Given the description of an element on the screen output the (x, y) to click on. 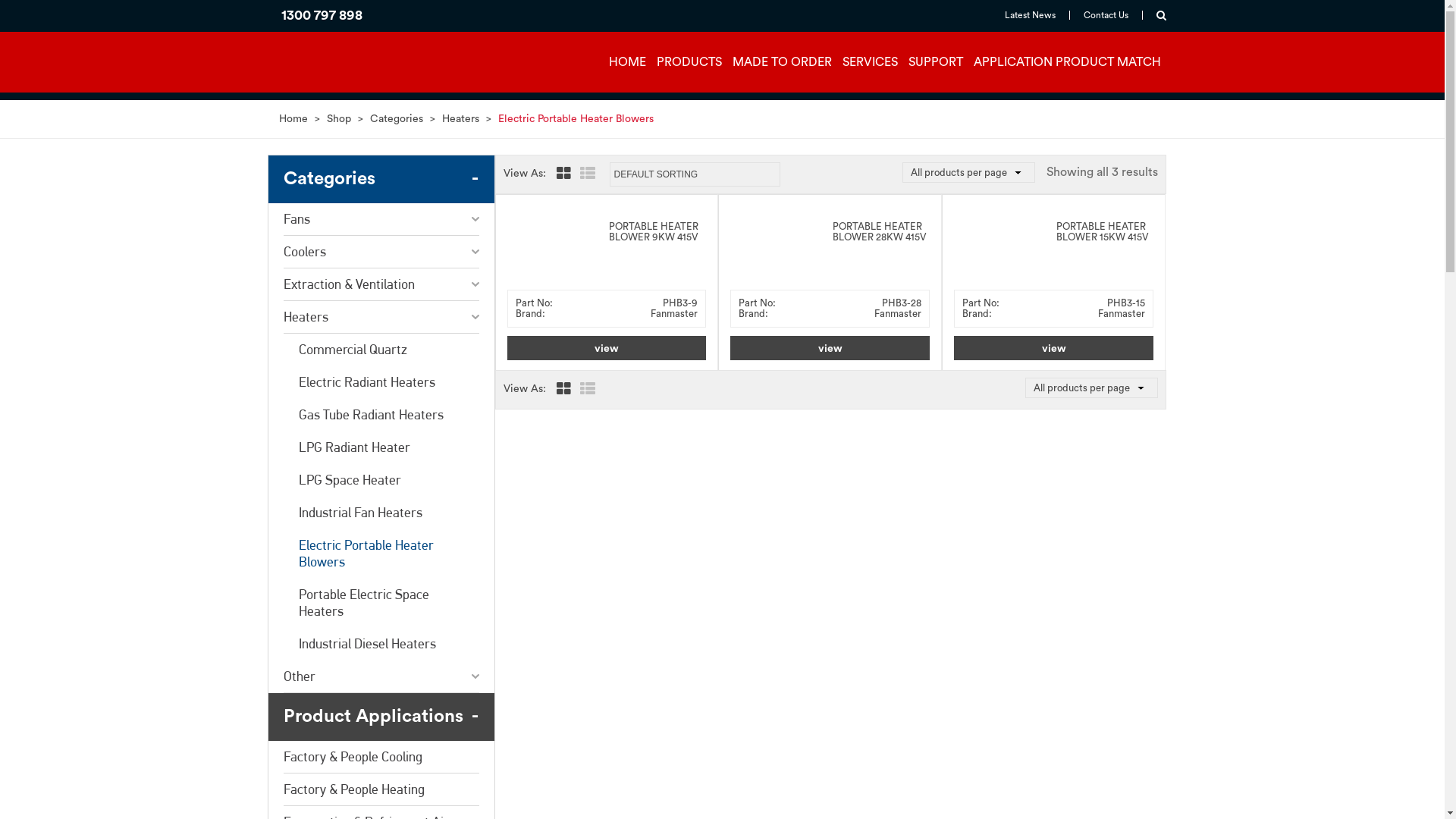
Commercial Quartz Element type: text (381, 349)
Grid Element type: hover (563, 391)
LPG Space Heater Element type: text (381, 479)
SUPPORT Element type: text (935, 64)
Factory & People Heating Element type: text (381, 789)
List Element type: hover (587, 176)
PRODUCTS Element type: text (688, 64)
APPLICATION PRODUCT MATCH Element type: text (1067, 64)
Categories Element type: text (381, 179)
Industrial Fan Heaters Element type: text (381, 512)
Factory & People Cooling Element type: text (381, 756)
HOME Element type: text (626, 64)
Fans Element type: text (381, 219)
Latest News Element type: text (1029, 14)
Industrial Diesel Heaters Element type: text (381, 643)
SERVICES Element type: text (869, 64)
Electric Portable Heater Blowers Element type: text (381, 553)
LPG Radiant Heater Element type: text (381, 447)
List Element type: hover (587, 391)
Product Applications Element type: text (381, 716)
PORTABLE HEATER BLOWER 15KW 415V Element type: text (1102, 231)
Heataustralia Element type: hover (332, 96)
Shop Element type: text (338, 118)
PORTABLE HEATER BLOWER 9KW 415V Element type: text (653, 231)
Categories Element type: text (396, 118)
Home Element type: text (293, 118)
MADE TO ORDER Element type: text (781, 64)
Heaters Element type: text (381, 317)
Contact Us Element type: text (1104, 14)
Gas Tube Radiant Heaters Element type: text (381, 414)
Other Element type: text (381, 676)
view Element type: text (1053, 347)
view Element type: text (829, 347)
Extraction & Ventilation Element type: text (381, 284)
Grid Element type: hover (563, 176)
view Element type: text (606, 347)
Electric Radiant Heaters Element type: text (381, 382)
Portable Electric Space Heaters Element type: text (381, 602)
Heaters Element type: text (459, 118)
1300 797 898 Element type: text (320, 14)
PORTABLE HEATER BLOWER 28KW 415V Element type: text (879, 231)
Coolers Element type: text (381, 251)
